Given the description of an element on the screen output the (x, y) to click on. 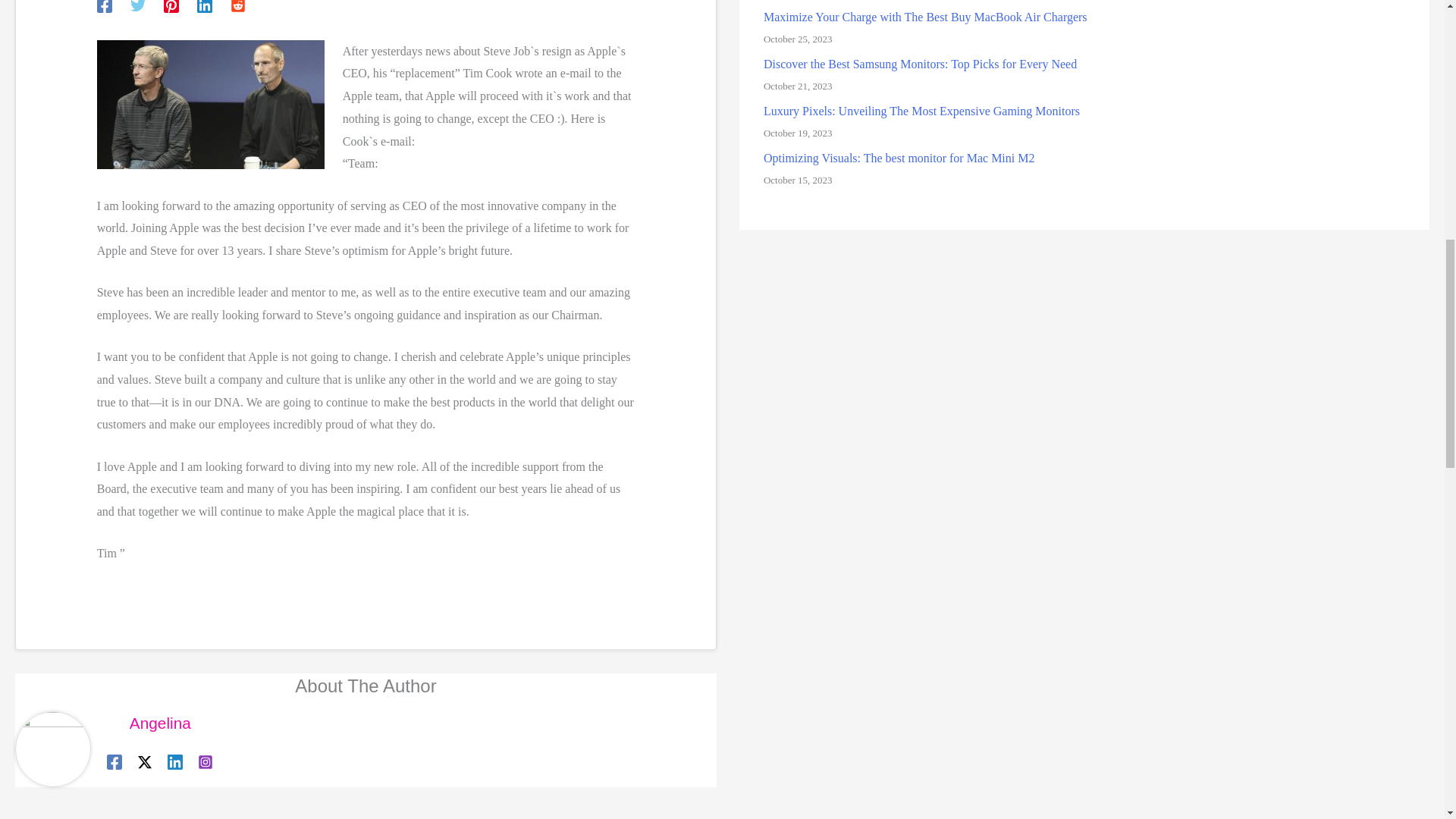
Tim Cook and Steve Jobs (210, 104)
iPad Joystick from Logitech (57, 816)
